Given the description of an element on the screen output the (x, y) to click on. 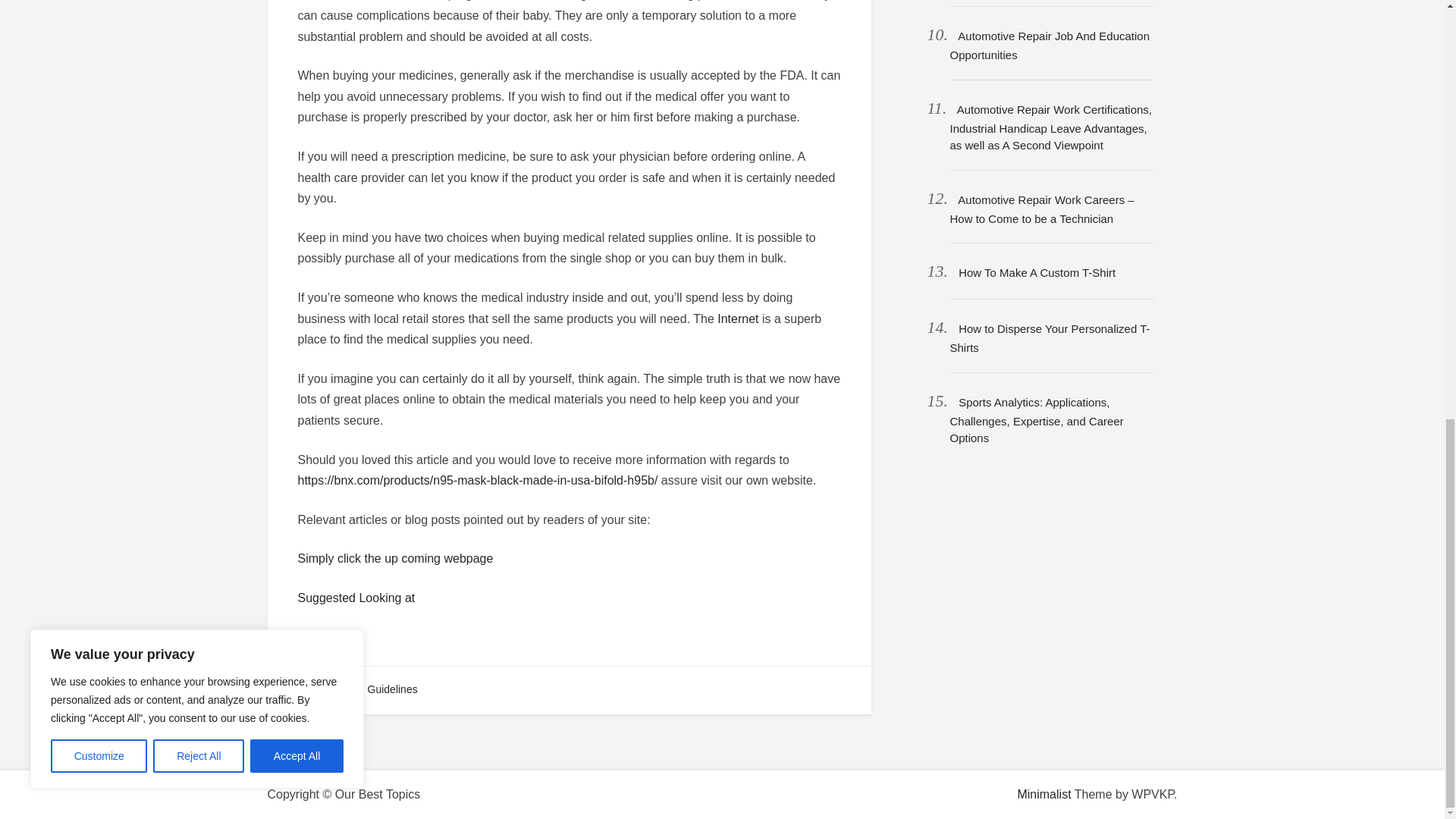
Simply click the up coming webpage (395, 558)
Guidelines (392, 689)
Internet (737, 318)
General (324, 689)
hyperlink (321, 636)
Suggested Looking at (355, 597)
